Given the description of an element on the screen output the (x, y) to click on. 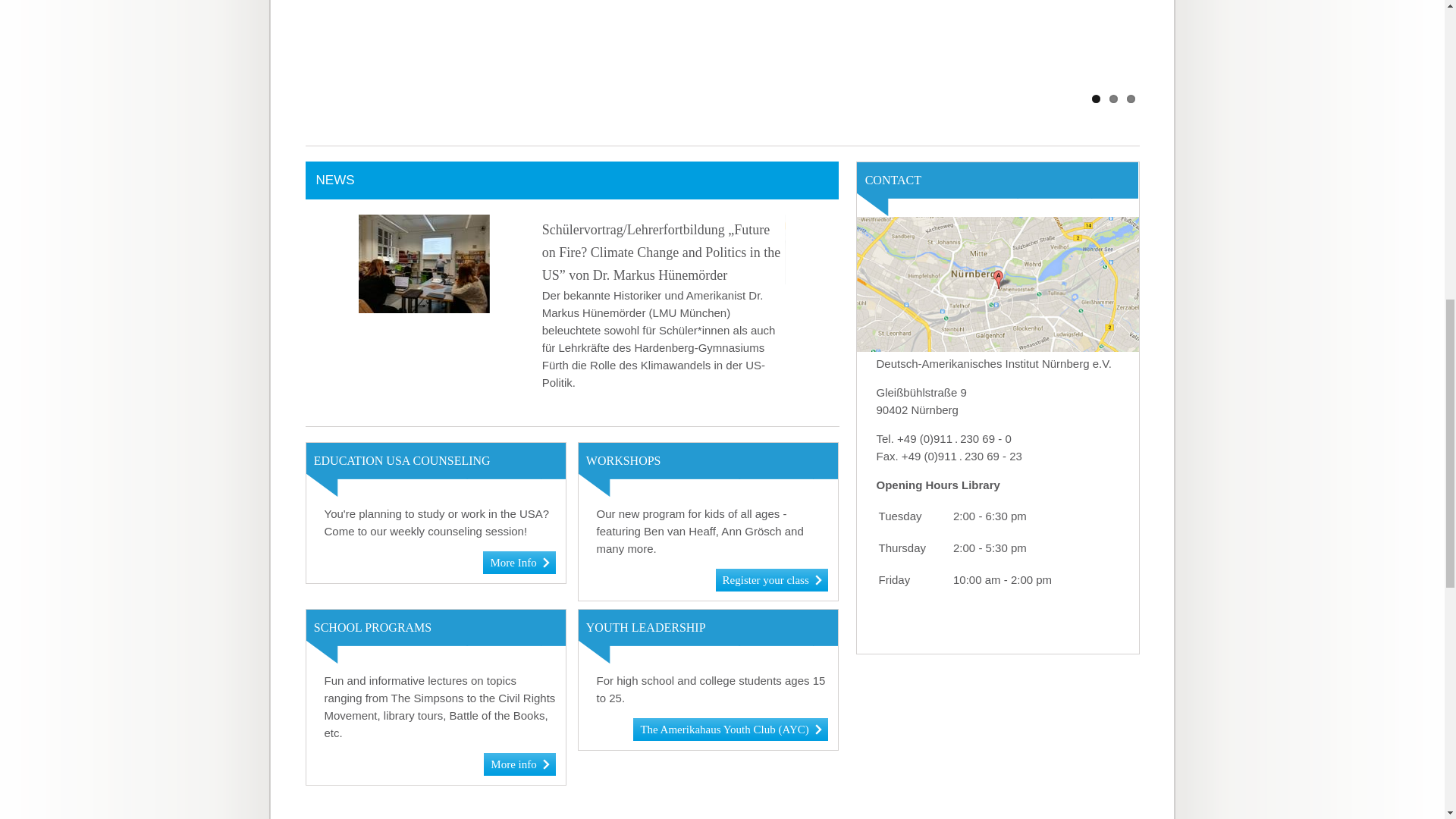
Opens internal link in current window (730, 728)
Opens internal link in current window (518, 561)
